Given the description of an element on the screen output the (x, y) to click on. 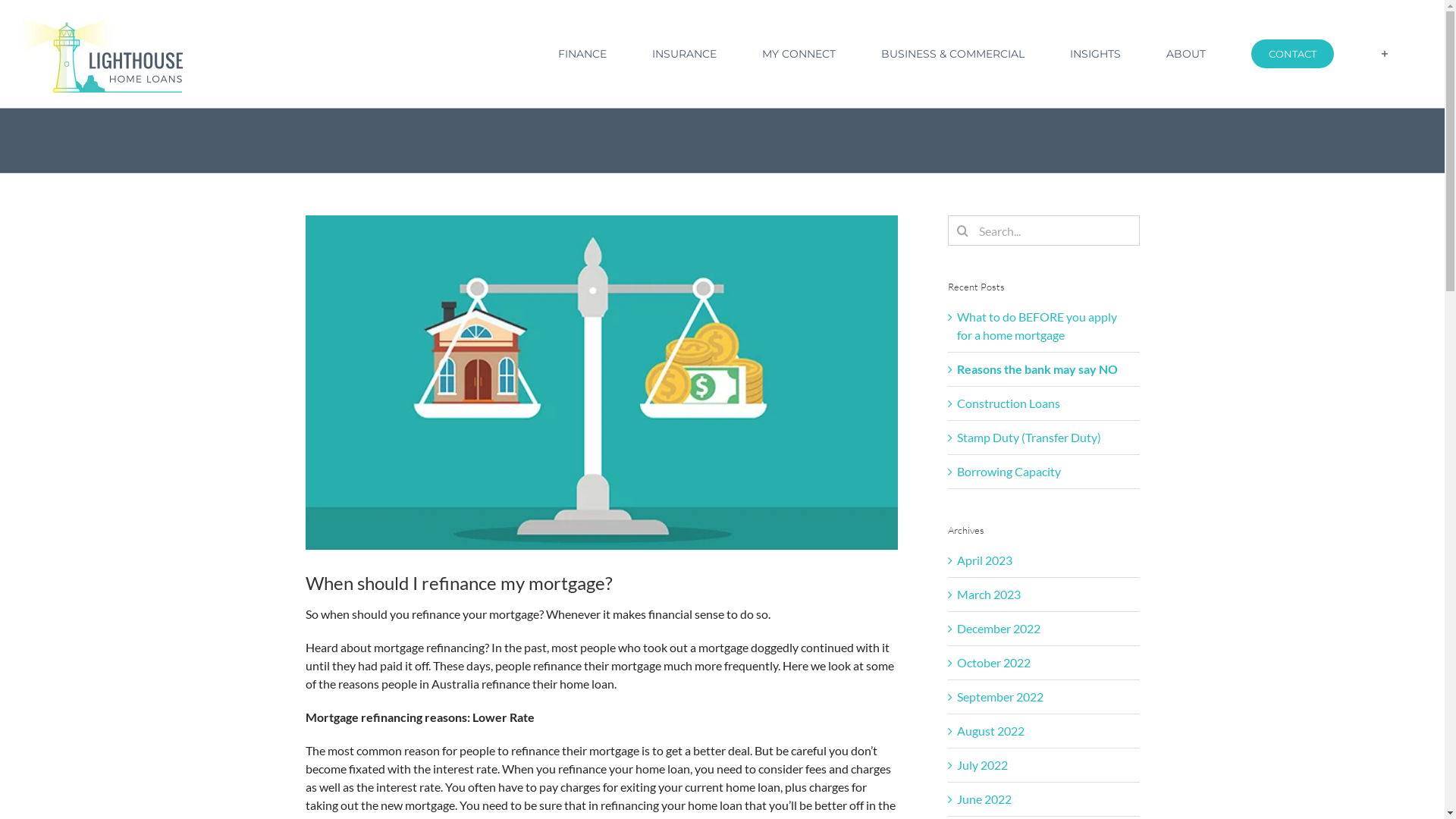
CONTACT Element type: text (1291, 53)
Borrowing Capacity Element type: text (1008, 471)
December 2022 Element type: text (998, 628)
INSIGHTS Element type: text (1094, 53)
July 2022 Element type: text (982, 764)
April 2023 Element type: text (984, 559)
June 2022 Element type: text (984, 798)
MY CONNECT Element type: text (798, 53)
Toggle Sliding Bar Element type: hover (1383, 53)
Construction Loans Element type: text (1008, 402)
March 2023 Element type: text (988, 593)
October 2022 Element type: text (993, 662)
BUSINESS & COMMERCIAL Element type: text (952, 53)
ABOUT Element type: text (1185, 53)
Stamp Duty (Transfer Duty) Element type: text (1029, 436)
September 2022 Element type: text (1000, 696)
Reasons the bank may say NO Element type: text (1037, 368)
August 2022 Element type: text (990, 730)
INSURANCE Element type: text (683, 53)
What to do BEFORE you apply for a home mortgage Element type: text (1037, 325)
FINANCE Element type: text (581, 53)
